Given the description of an element on the screen output the (x, y) to click on. 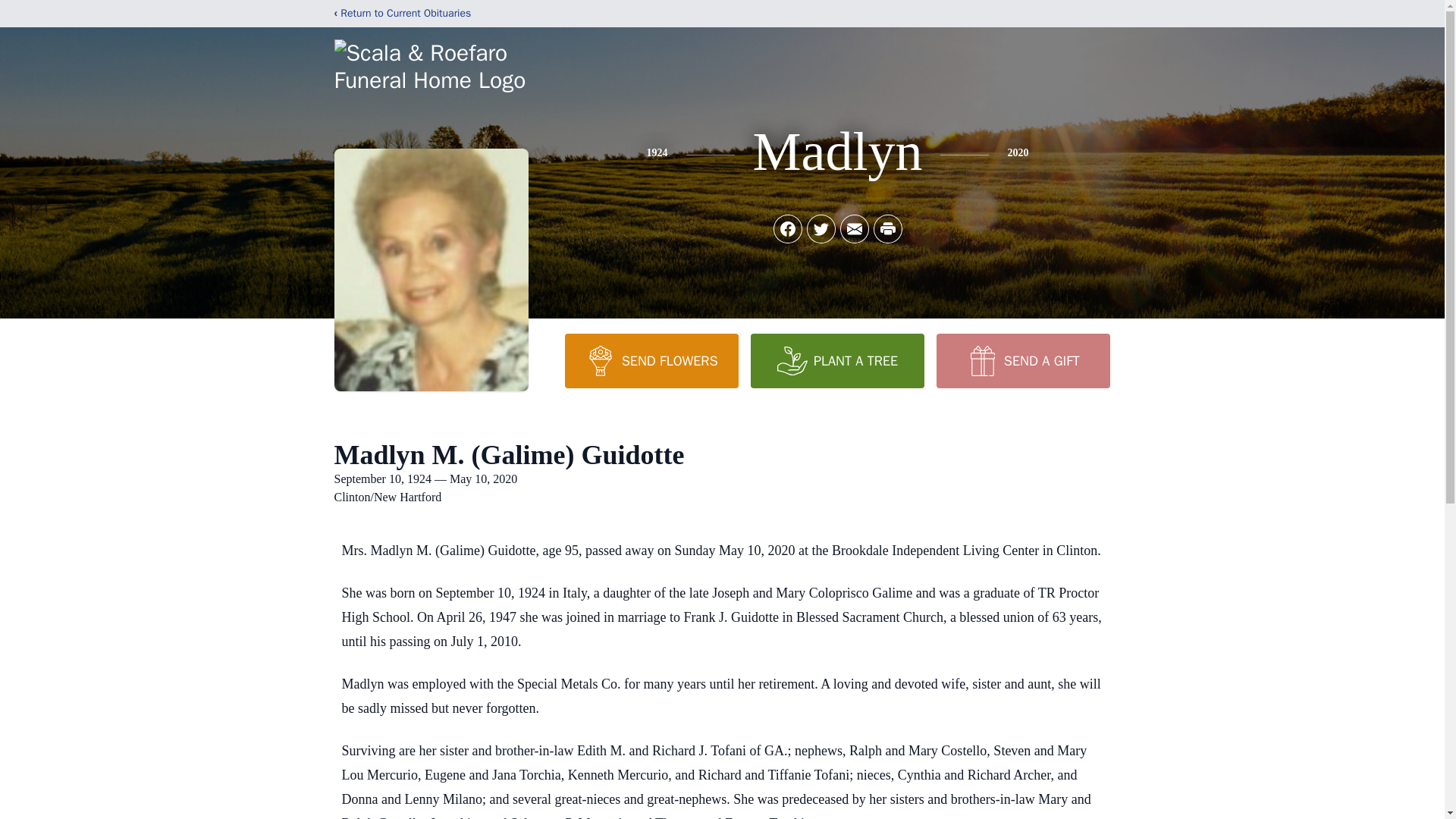
PLANT A TREE (837, 360)
SEND A GIFT (1022, 360)
SEND FLOWERS (651, 360)
